Given the description of an element on the screen output the (x, y) to click on. 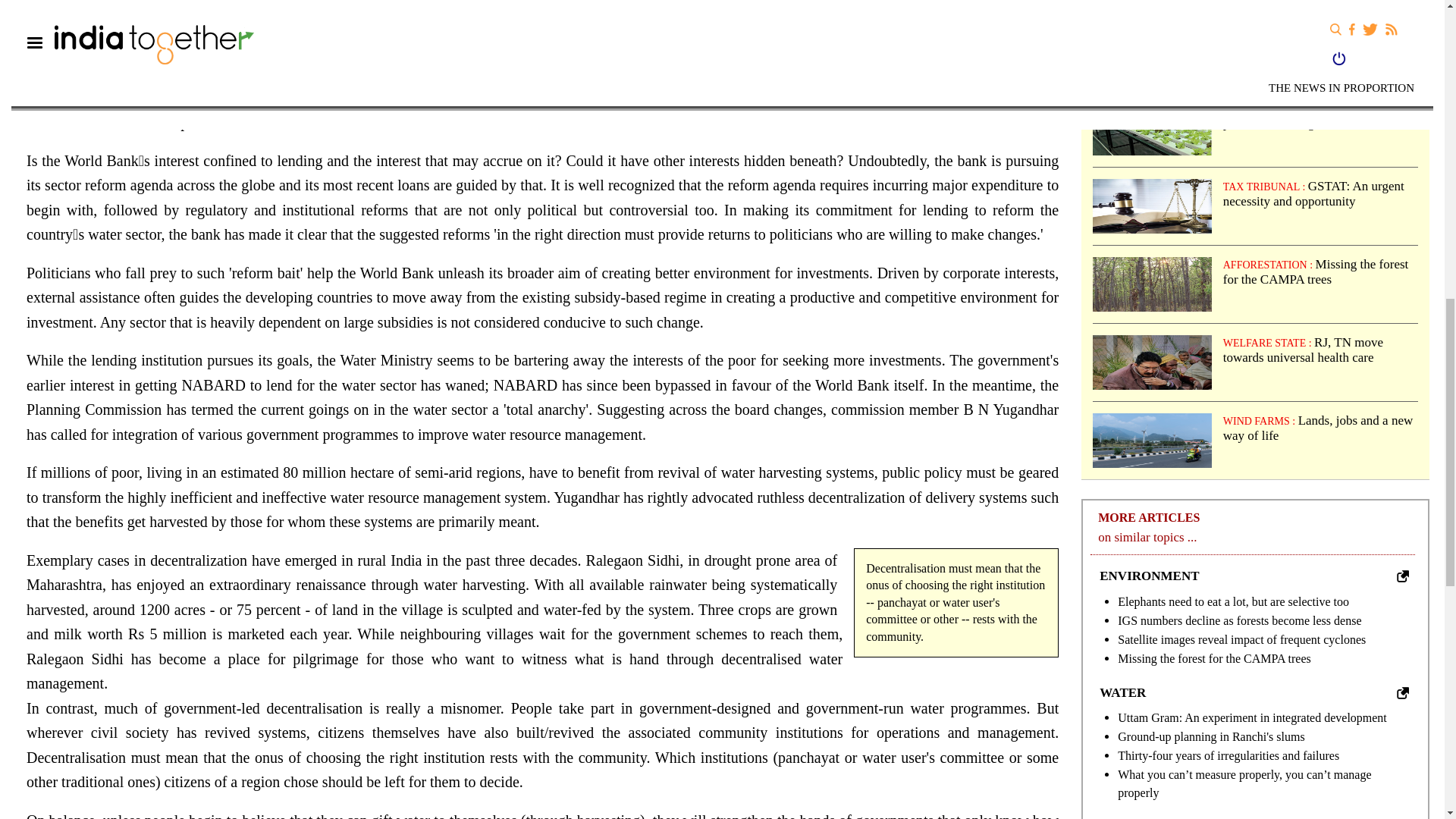
See all (1402, 576)
See all (1402, 693)
